Given the description of an element on the screen output the (x, y) to click on. 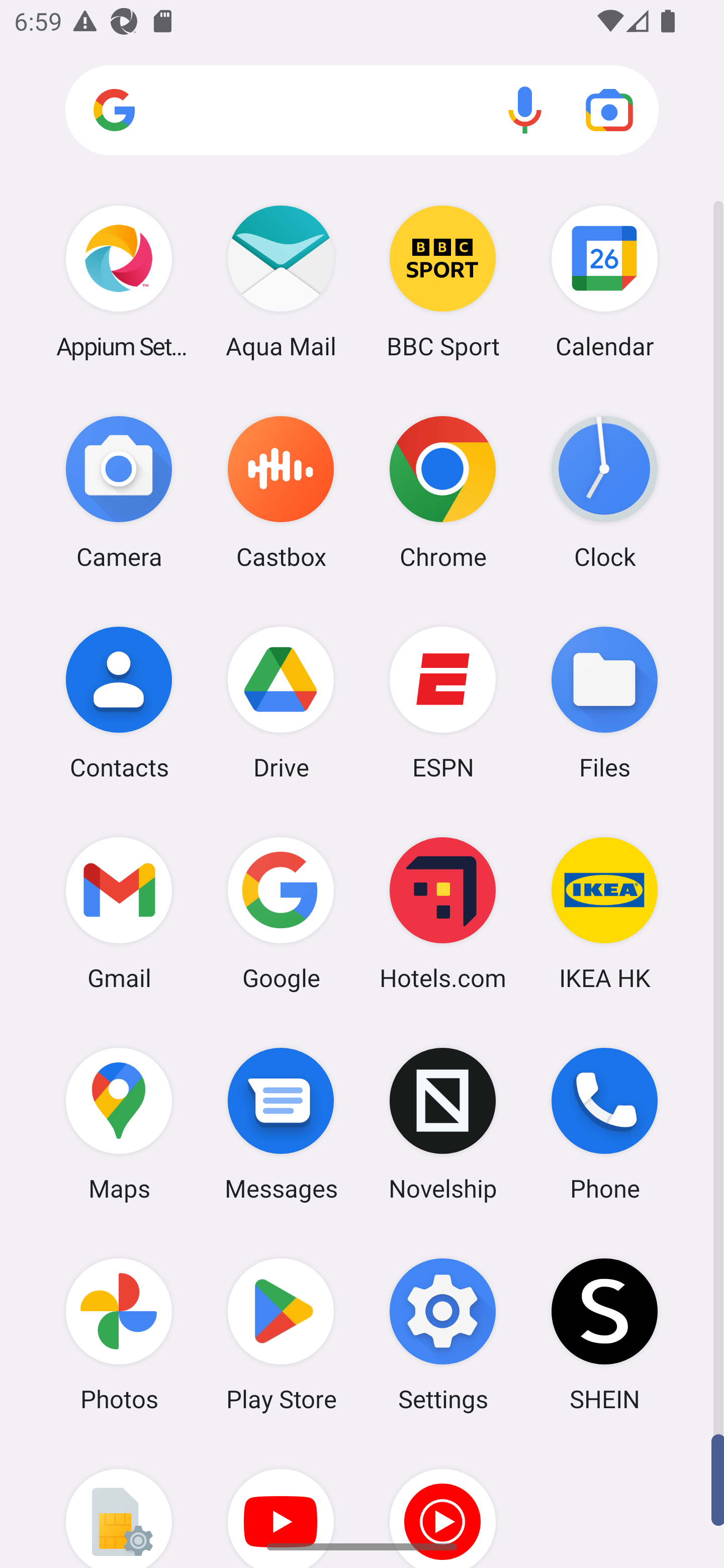
Search apps, web and more (361, 110)
Voice search (524, 109)
Google Lens (608, 109)
Appium Settings (118, 281)
Aqua Mail (280, 281)
BBC Sport (443, 281)
Calendar (604, 281)
Camera (118, 492)
Castbox (280, 492)
Chrome (443, 492)
Clock (604, 492)
Contacts (118, 702)
Drive (280, 702)
ESPN (443, 702)
Files (604, 702)
Gmail (118, 913)
Google (280, 913)
Hotels.com (443, 913)
IKEA HK (604, 913)
Maps (118, 1124)
Messages (280, 1124)
Novelship (443, 1124)
Phone (604, 1124)
Photos (118, 1334)
Play Store (280, 1334)
Settings (443, 1334)
SHEIN (604, 1334)
TMoble (118, 1503)
YouTube (280, 1503)
YT Music (443, 1503)
